Given the description of an element on the screen output the (x, y) to click on. 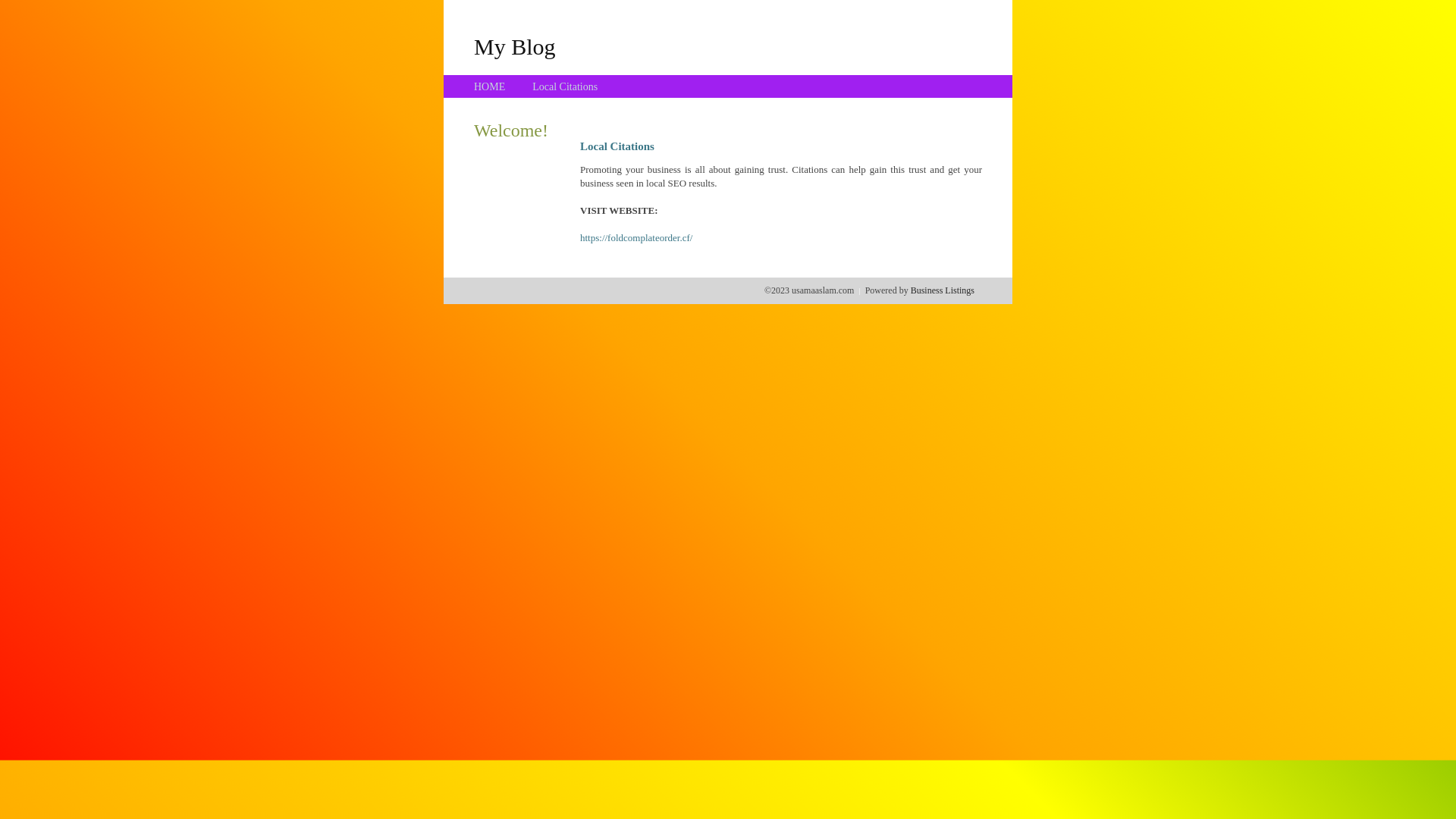
https://foldcomplateorder.cf/ Element type: text (636, 237)
Business Listings Element type: text (942, 290)
My Blog Element type: text (514, 46)
Local Citations Element type: text (564, 86)
HOME Element type: text (489, 86)
